Given the description of an element on the screen output the (x, y) to click on. 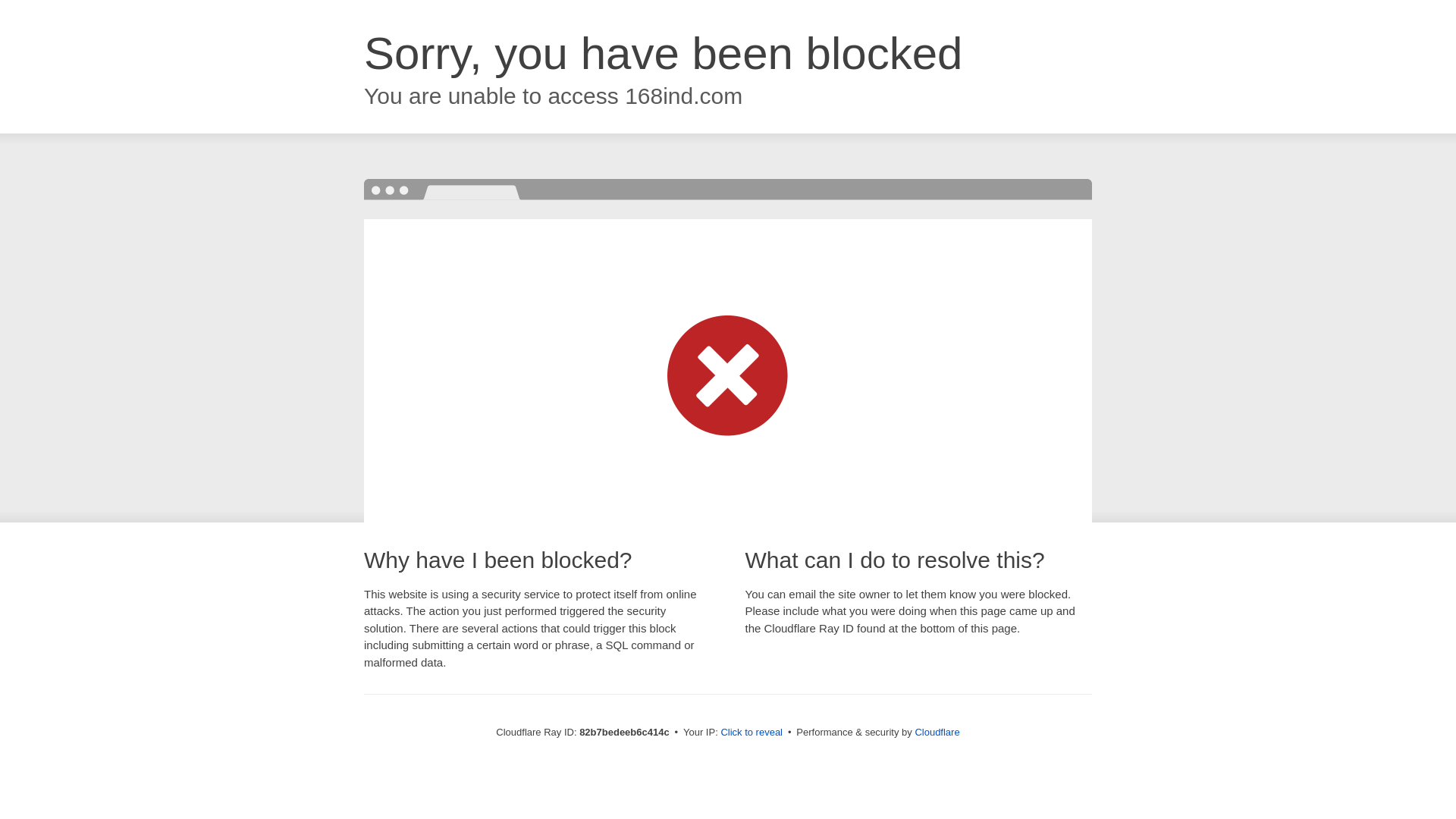
Cloudflare Element type: text (936, 731)
Click to reveal Element type: text (751, 732)
